Given the description of an element on the screen output the (x, y) to click on. 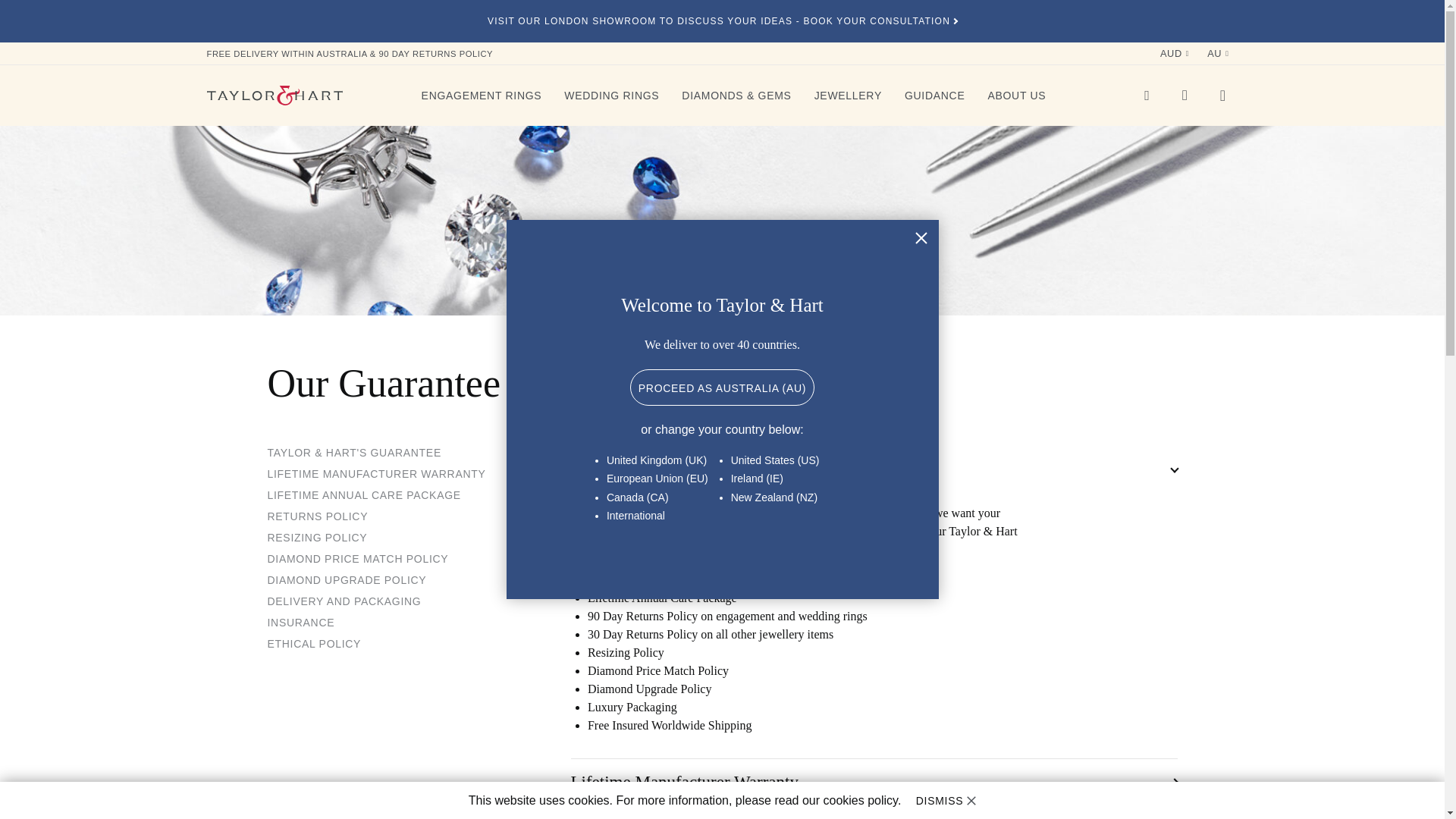
AU (1217, 53)
AUD (1174, 53)
